Given the description of an element on the screen output the (x, y) to click on. 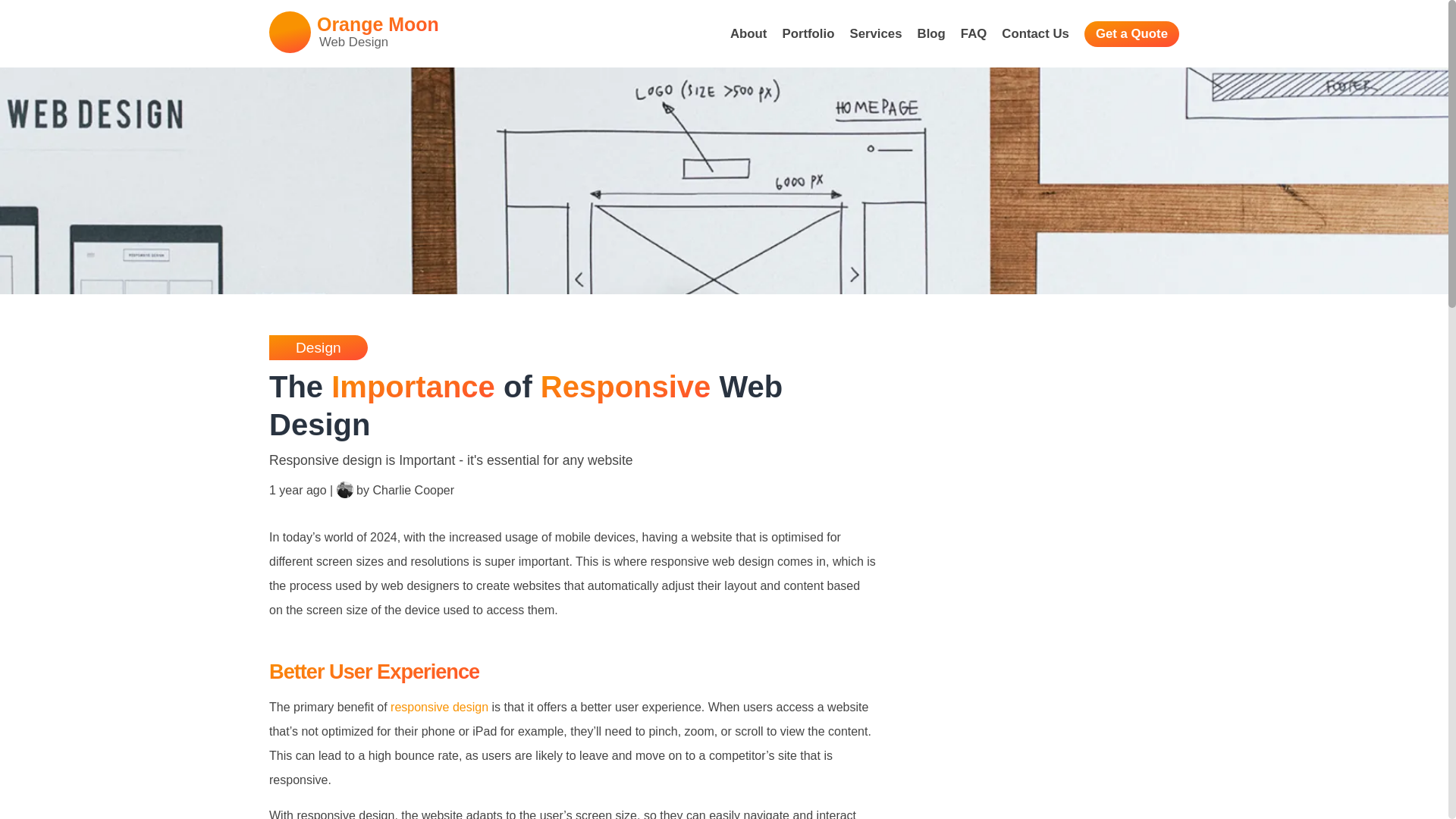
Blog (354, 32)
Services (930, 35)
Contact Us (874, 35)
About (1034, 35)
Get a Quote (748, 35)
FAQ (1131, 33)
responsive design (973, 35)
Portfolio (438, 707)
